Given the description of an element on the screen output the (x, y) to click on. 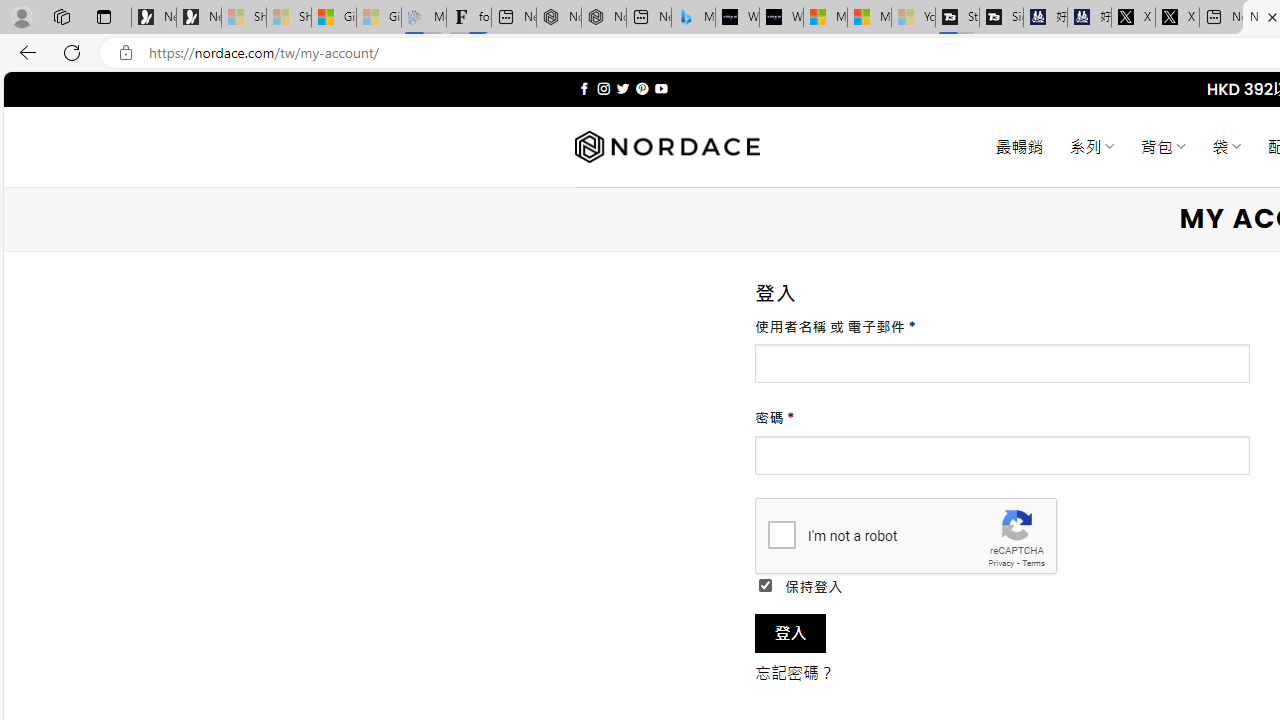
Nordace (667, 147)
Privacy (1001, 562)
Microsoft Start Sports (825, 17)
Follow on YouTube (661, 88)
Microsoft Start (868, 17)
Nordace - #1 Japanese Best-Seller - Siena Smart Backpack (603, 17)
Microsoft Bing Travel - Shangri-La Hotel Bangkok (693, 17)
I'm not a robot (782, 533)
Terms (1033, 562)
